Given the description of an element on the screen output the (x, y) to click on. 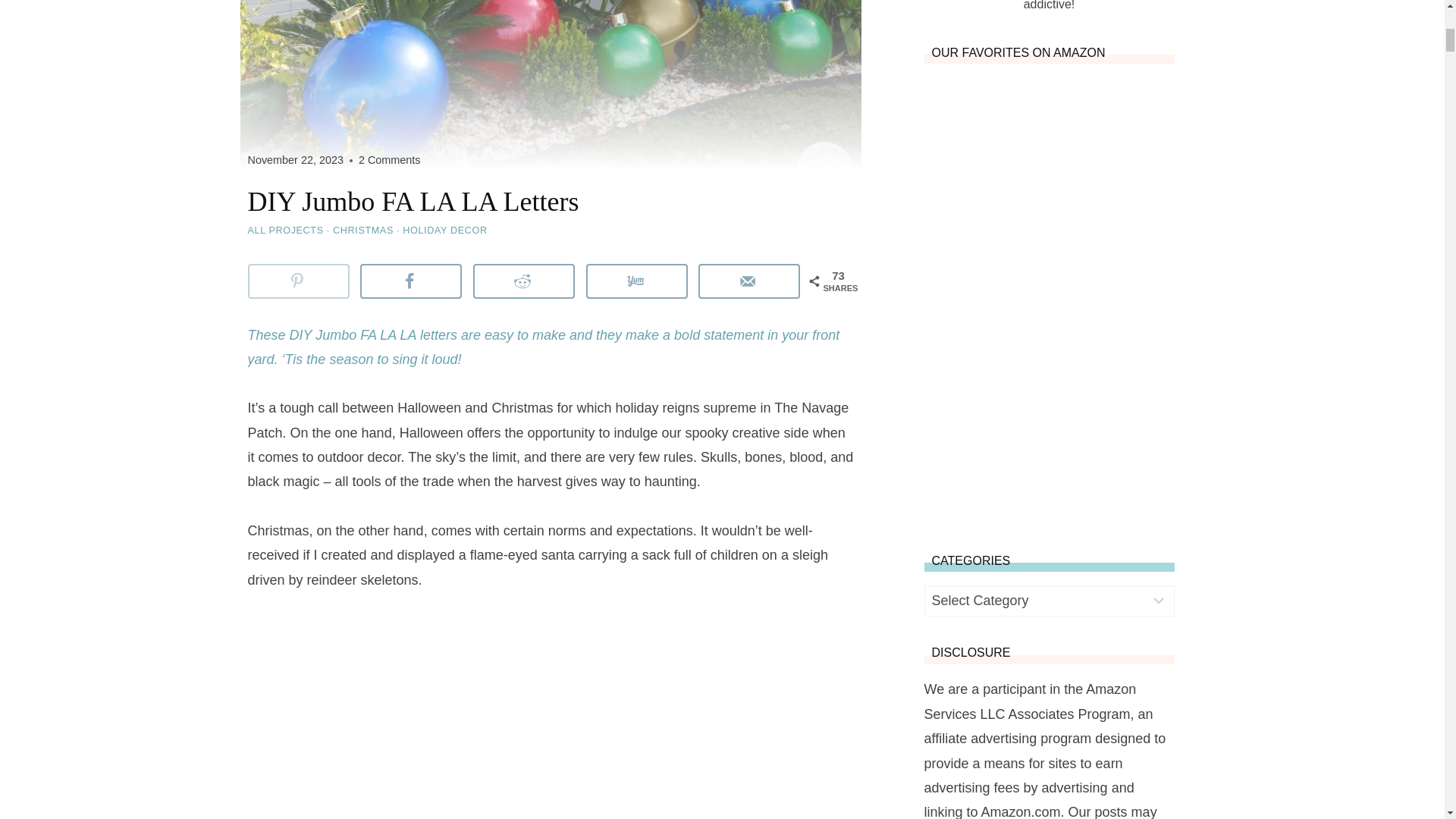
Save to Pinterest (298, 280)
ALL PROJECTS (285, 230)
2 Comments (389, 160)
Share on Reddit (524, 280)
CHRISTMAS (363, 230)
Share on Facebook (410, 280)
HOLIDAY DECOR (444, 230)
2 Comments (389, 160)
Send over email (748, 280)
Share on Yummly (636, 280)
